Given the description of an element on the screen output the (x, y) to click on. 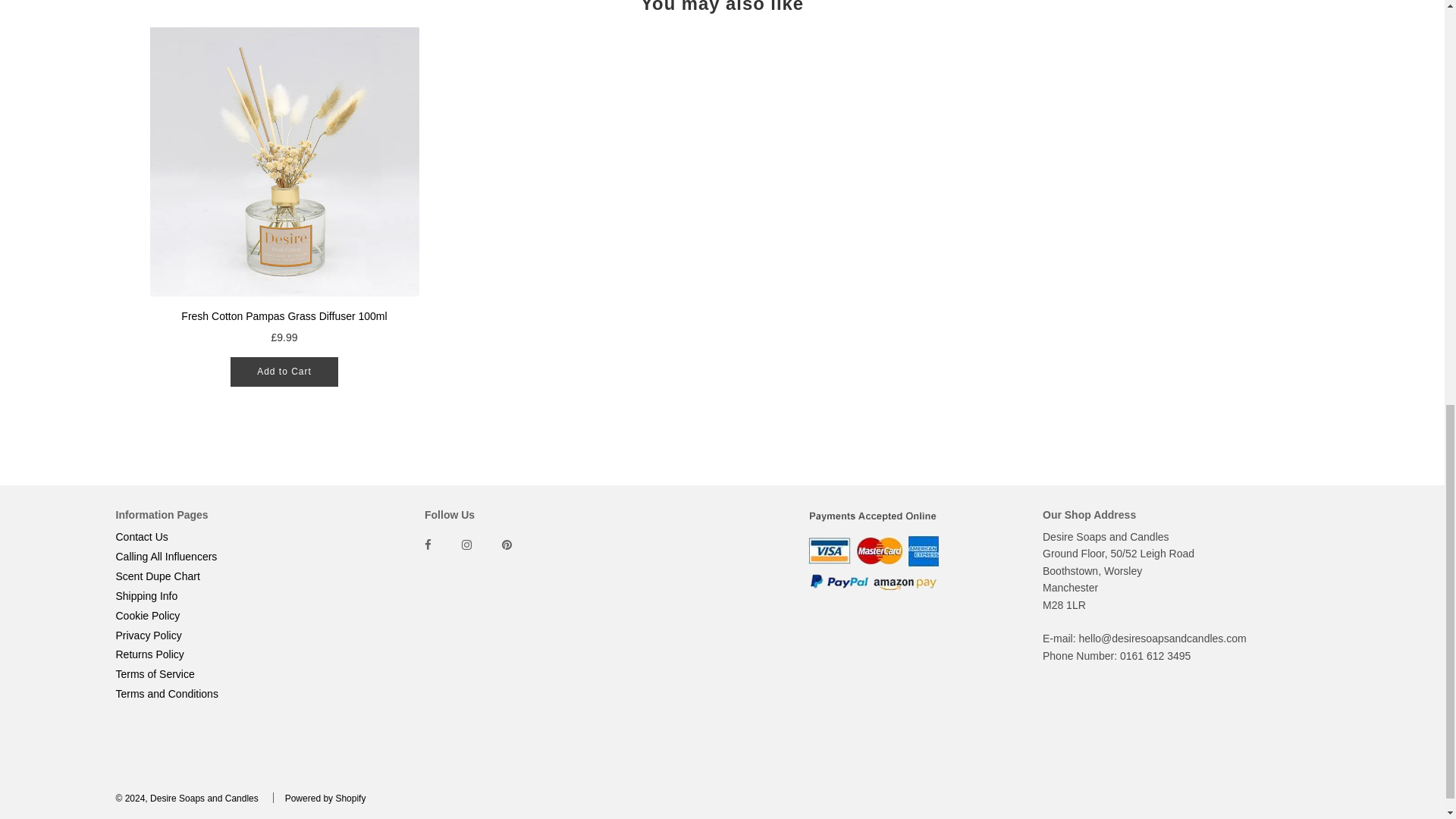
Fresh Cotton Pampas Grass Diffuser 100ml (284, 161)
